Given the description of an element on the screen output the (x, y) to click on. 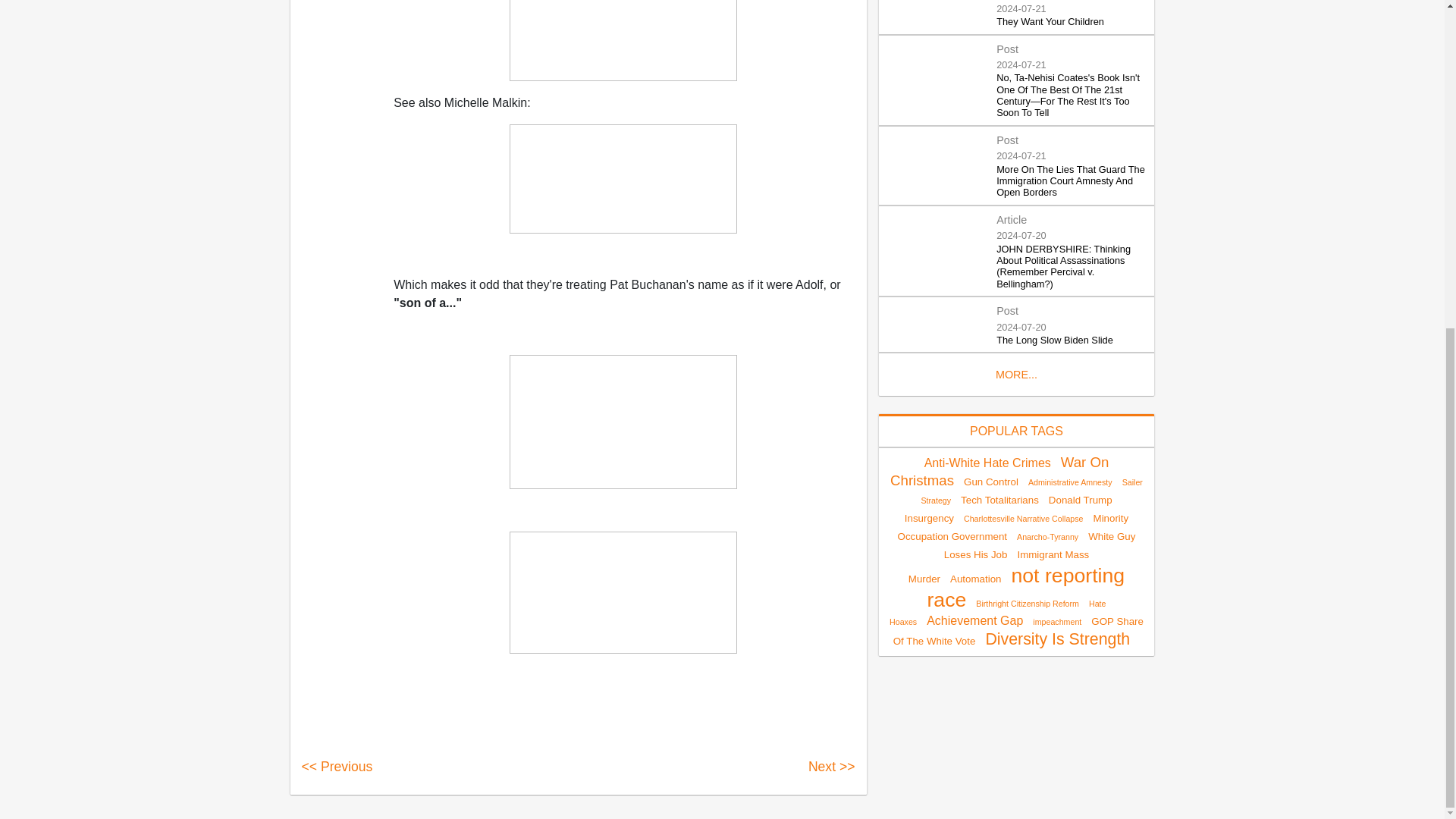
google-pat-bu (622, 421)
google-malk (622, 178)
google-son-of-a (622, 40)
google-patrick-buc (622, 592)
